Given the description of an element on the screen output the (x, y) to click on. 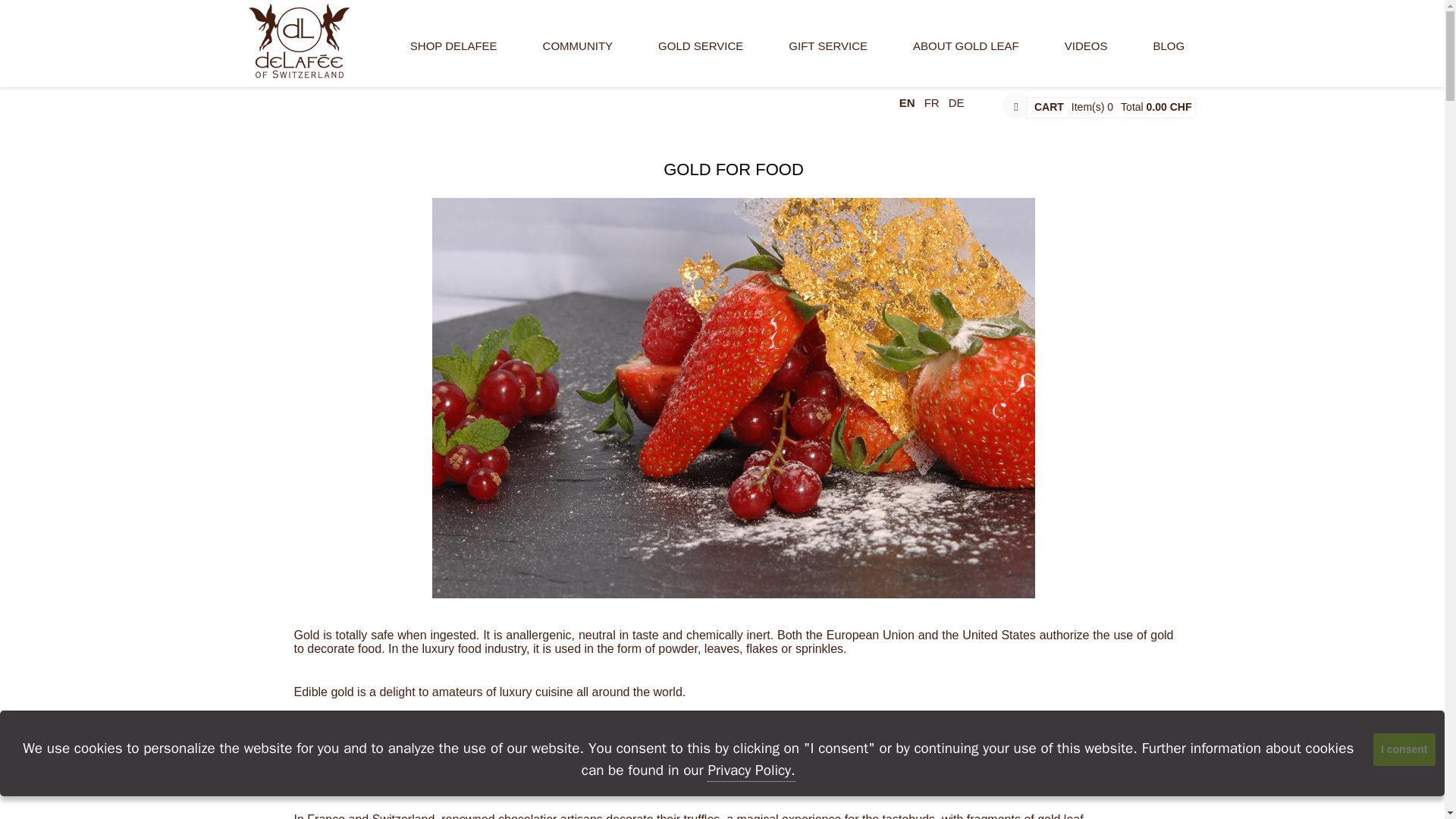
BLOG (1169, 55)
COMMUNITY (577, 55)
GOLD SERVICE (700, 55)
SHOP DELAFEE (453, 55)
VIDEOS (1086, 55)
0 (1109, 106)
ABOUT GOLD LEAF (965, 55)
GIFT SERVICE (828, 55)
